Given the description of an element on the screen output the (x, y) to click on. 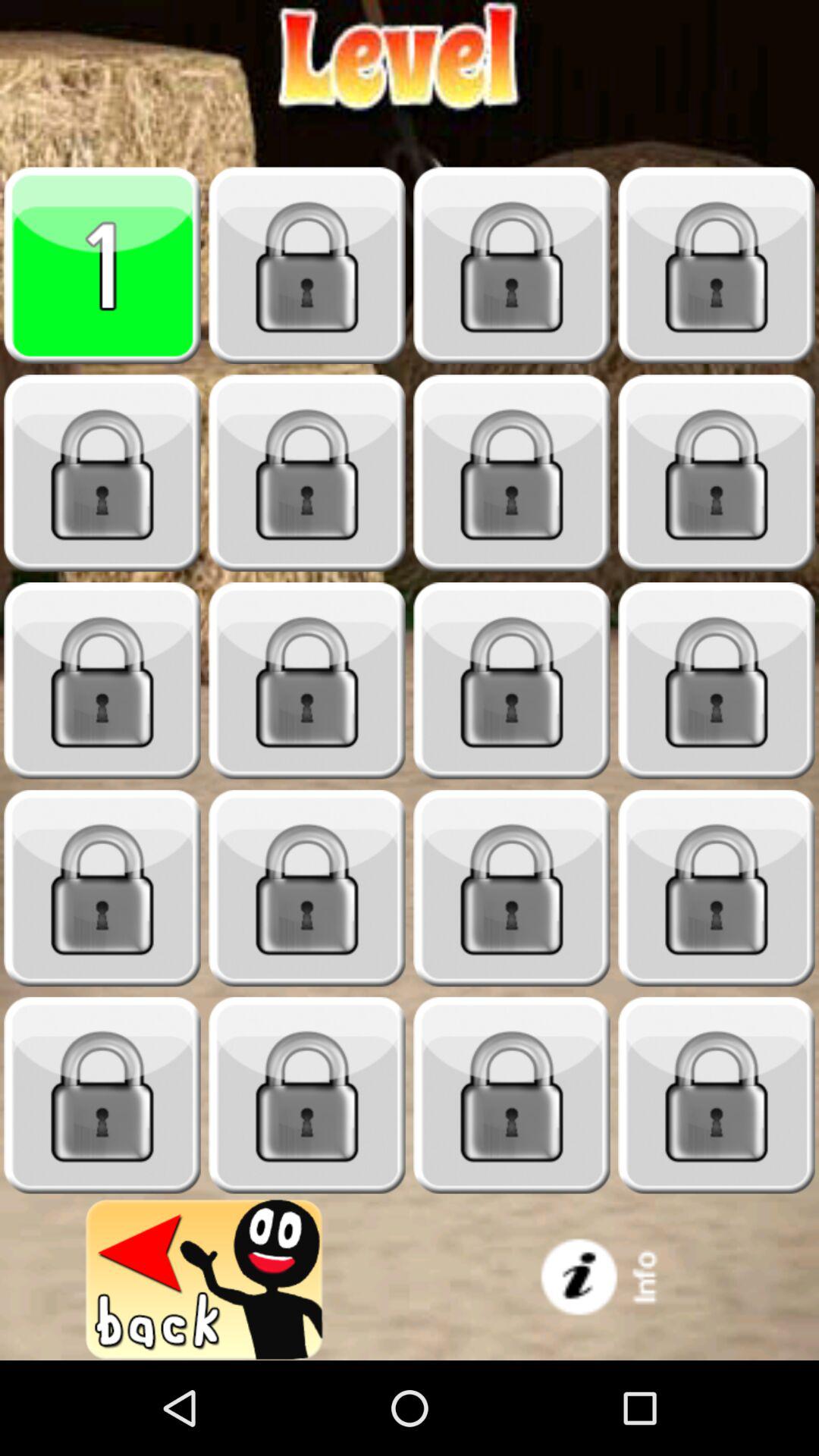
select 8th tile (716, 473)
